Given the description of an element on the screen output the (x, y) to click on. 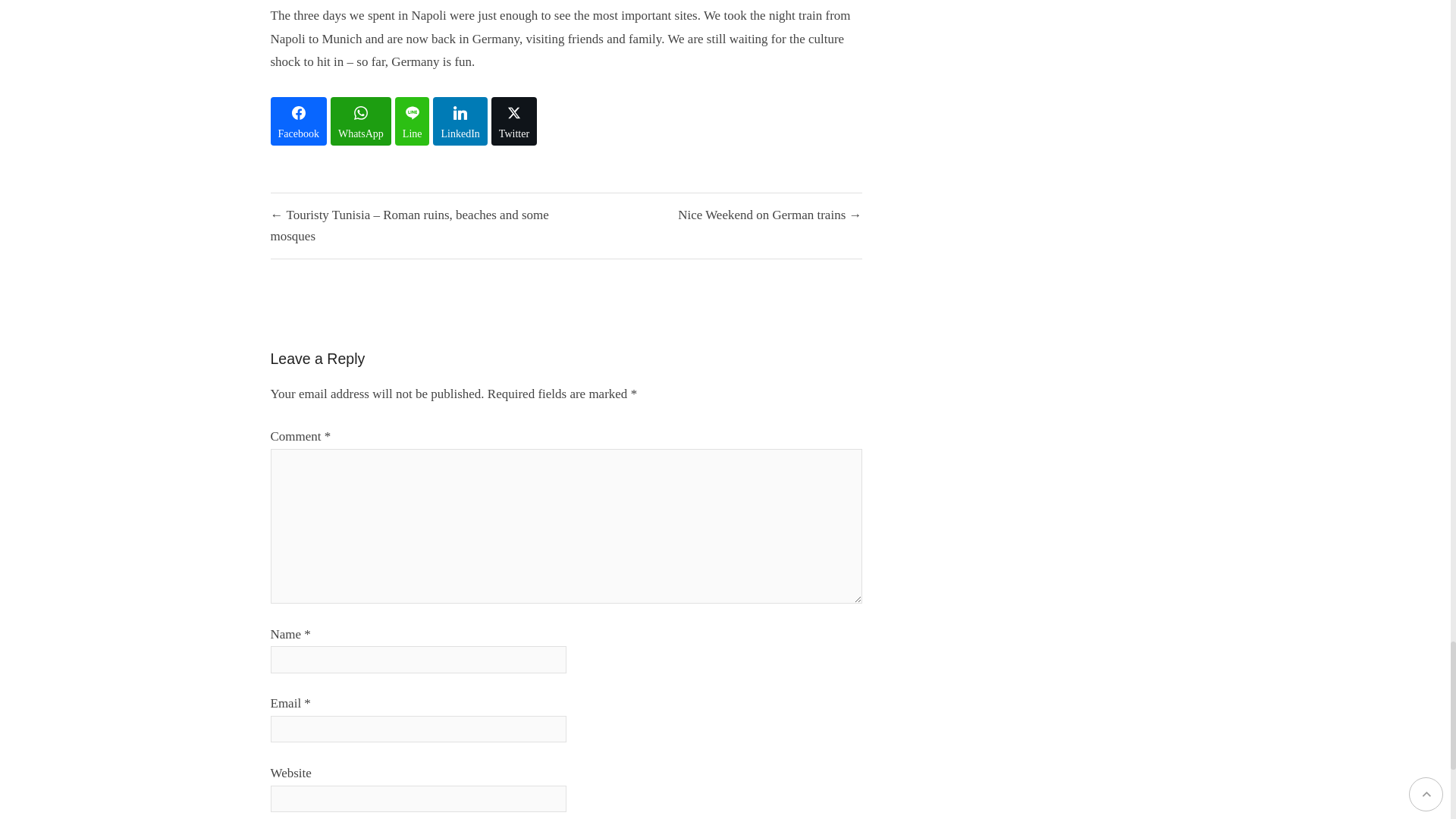
WhatsApp (360, 121)
Facebook (297, 121)
Share on LinkedIn (459, 121)
Share on Facebook (297, 121)
Share on WhatsApp (360, 121)
Share on Twitter (514, 121)
